Given the description of an element on the screen output the (x, y) to click on. 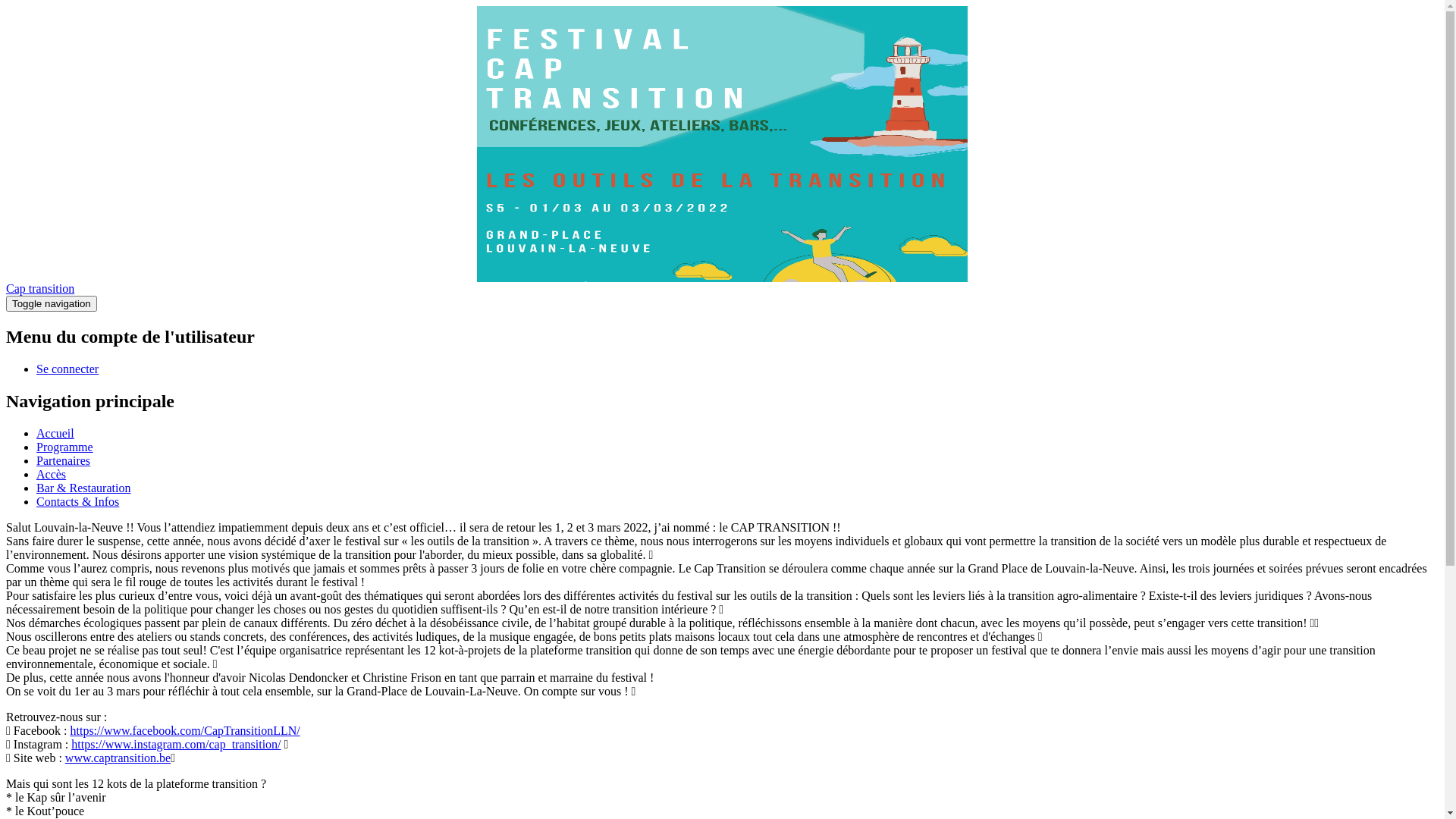
Bar & Restauration Element type: text (83, 487)
https://www.facebook.com/CapTransitionLLN/ Element type: text (184, 730)
https://www.instagram.com/cap_transition/ Element type: text (175, 743)
Partenaires Element type: text (63, 460)
Accueil Element type: text (55, 432)
Contacts & Infos Element type: text (77, 501)
Aller au contenu principal Element type: text (6, 6)
www.captransition.be Element type: text (117, 757)
Se connecter Element type: text (67, 368)
Toggle navigation Element type: text (51, 303)
Cap transition Element type: text (40, 288)
Programme Element type: text (64, 446)
